Given the description of an element on the screen output the (x, y) to click on. 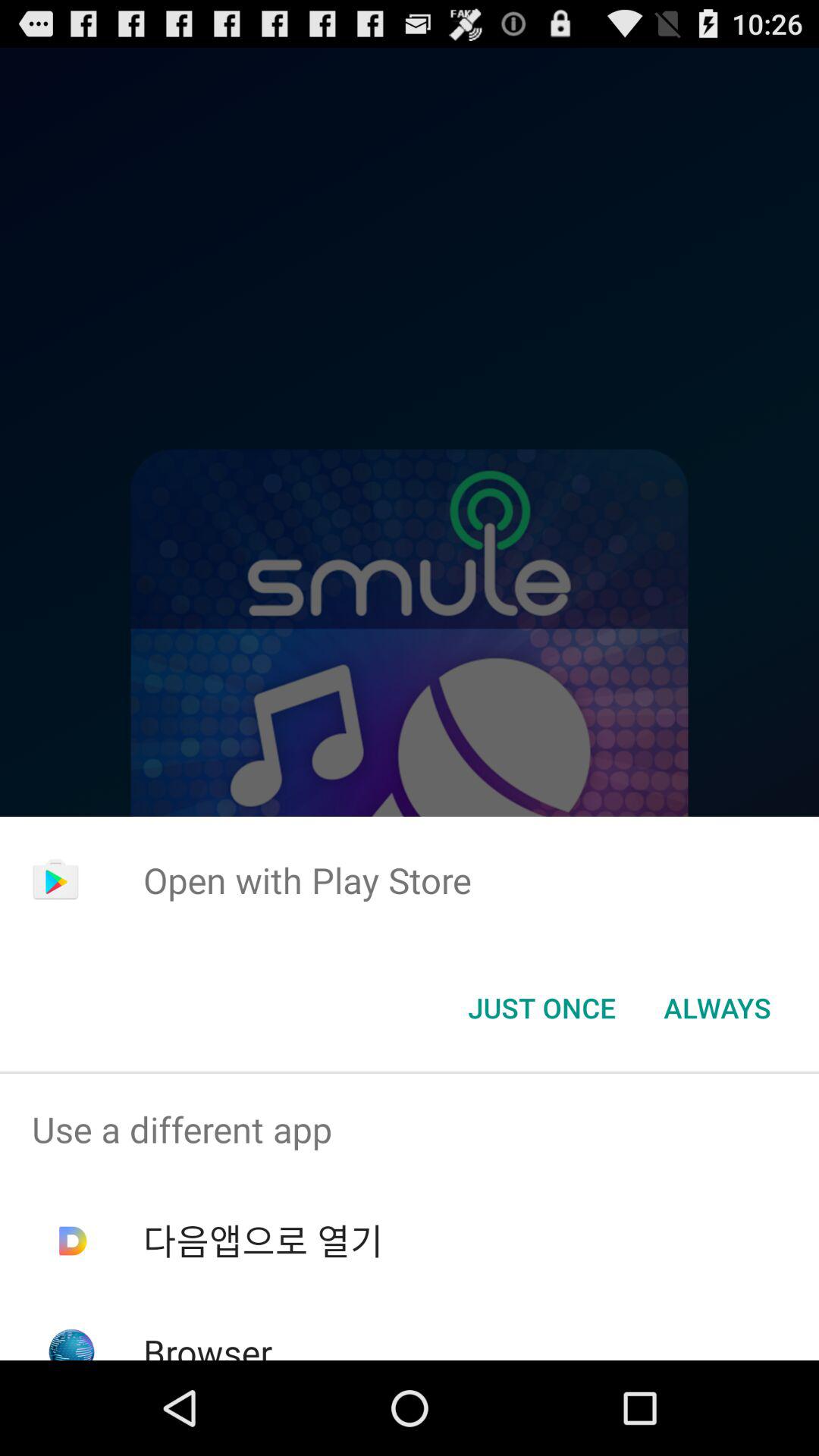
jump to the always item (717, 1007)
